Given the description of an element on the screen output the (x, y) to click on. 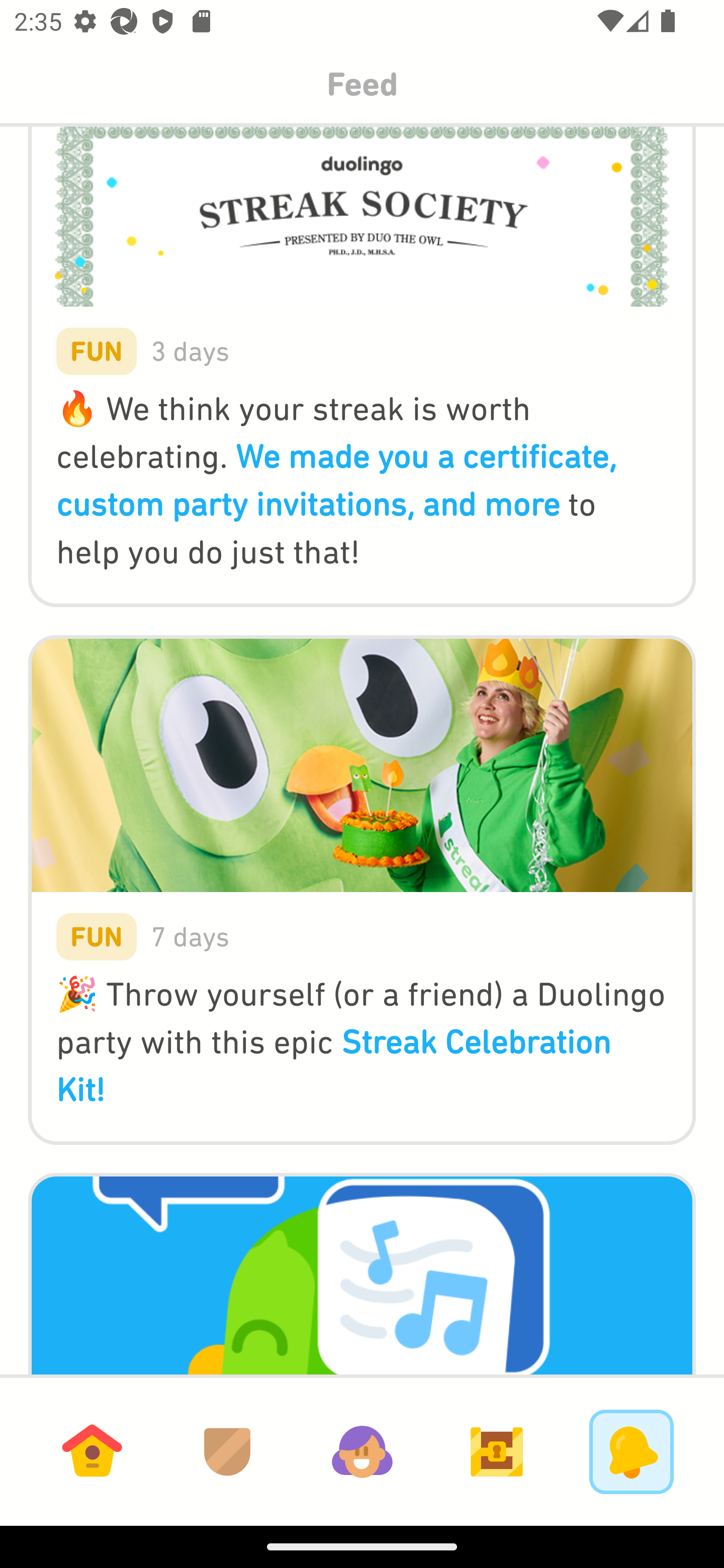
Learn Tab (91, 1451)
Leagues Tab (227, 1451)
Profile Tab (361, 1451)
Goals Tab (496, 1451)
News Tab (631, 1451)
